Given the description of an element on the screen output the (x, y) to click on. 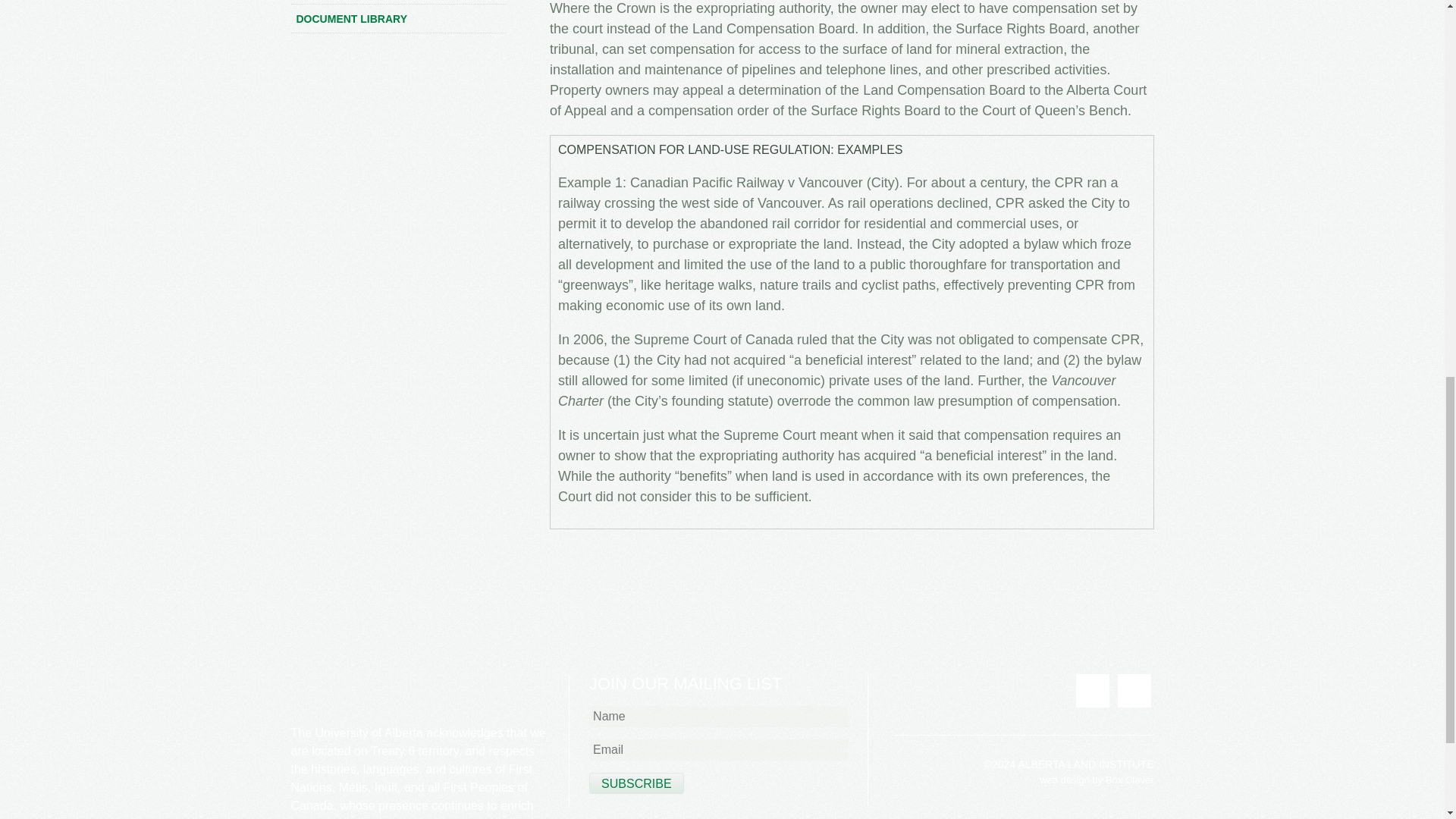
Edmonton Web Design by Box Clever (1096, 779)
